Given the description of an element on the screen output the (x, y) to click on. 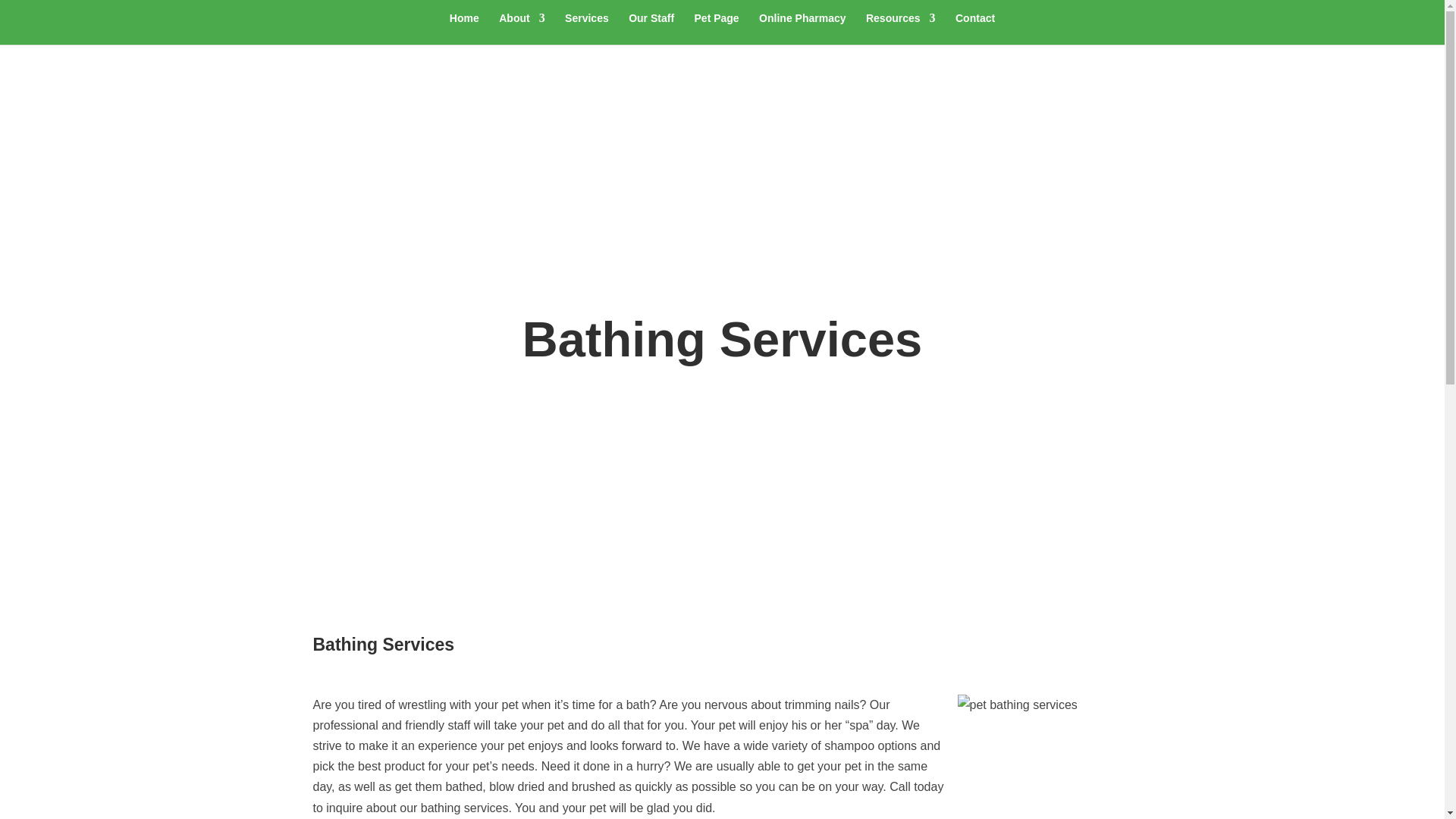
Our Staff (651, 29)
Online Pharmacy (801, 29)
Pet Page (716, 29)
About (521, 29)
Resources (901, 29)
Contact (974, 29)
Services (586, 29)
Home (464, 29)
